Given the description of an element on the screen output the (x, y) to click on. 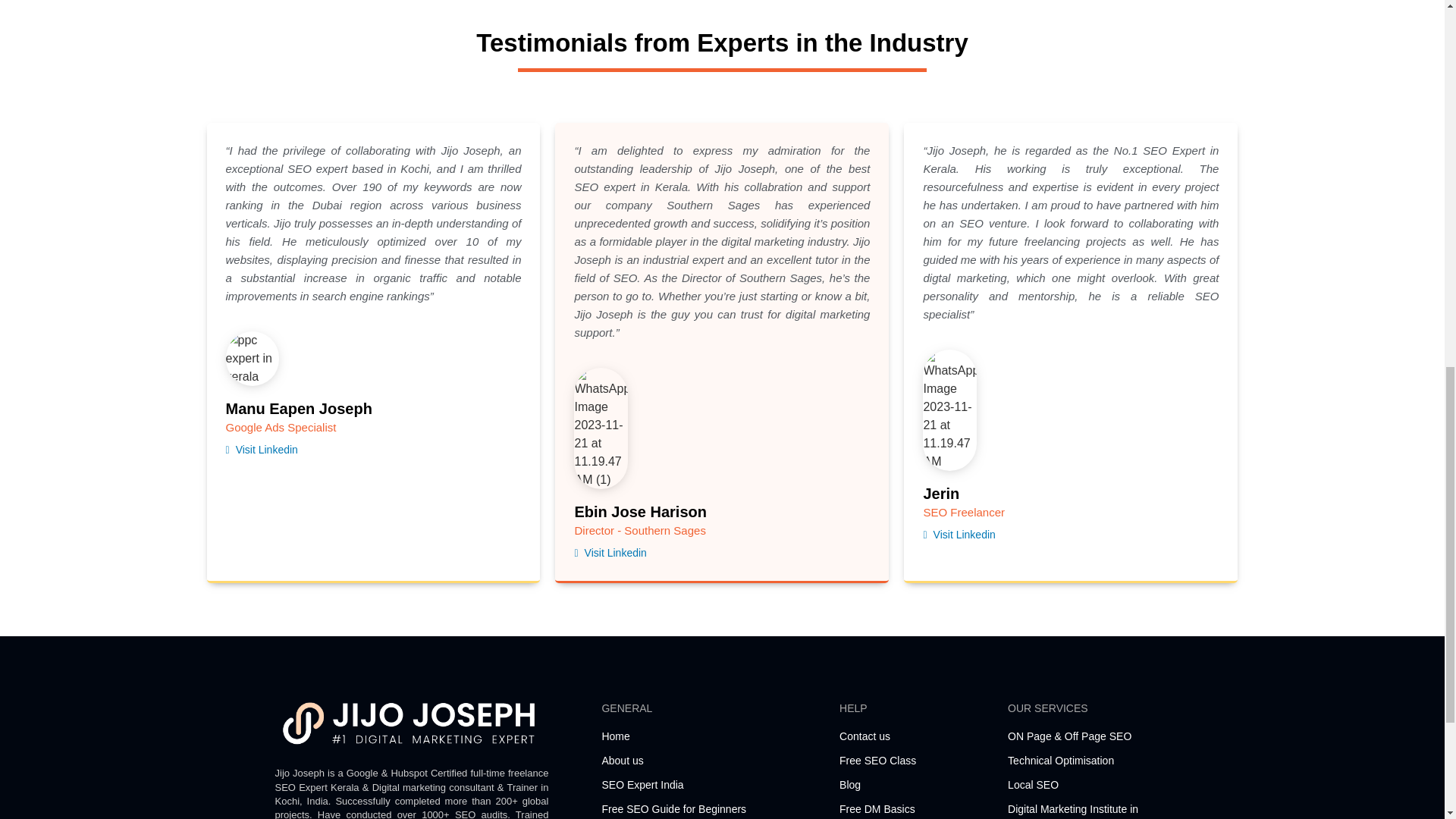
Free SEO Class (916, 760)
Visit Linkedin (261, 449)
Free DM Basics (916, 809)
SEO Expert India (712, 785)
Visit Linkedin (609, 552)
Free SEO Guide for Beginners (712, 809)
Home (712, 736)
Digital Marketing Institute in Kochi (1087, 810)
Visit Linkedin (958, 534)
About us (712, 760)
